Given the description of an element on the screen output the (x, y) to click on. 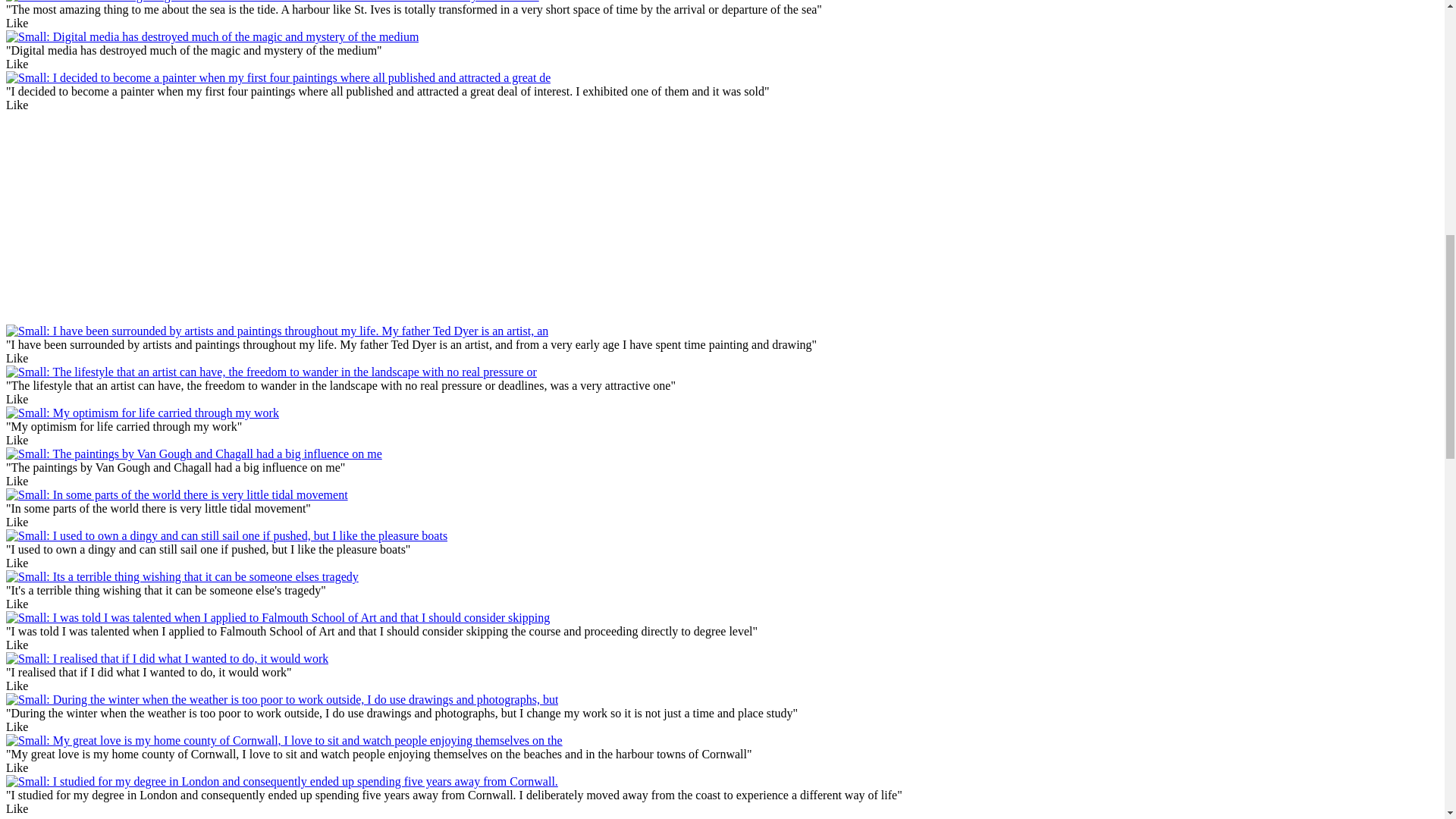
Vote on the best quotes (16, 104)
Vote on the best quotes (16, 22)
Vote on the best quotes (16, 63)
